Given the description of an element on the screen output the (x, y) to click on. 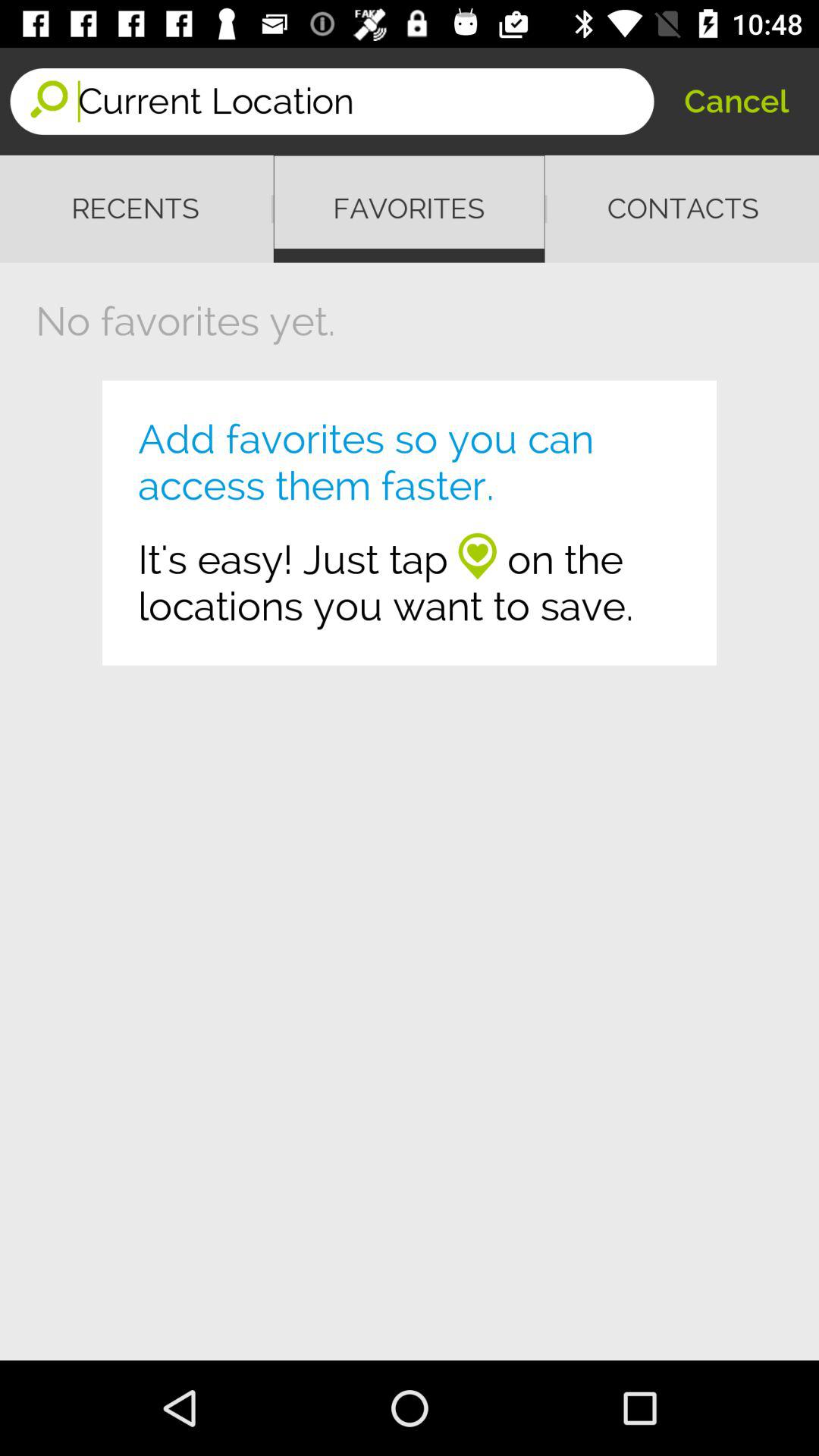
swipe until cancel item (736, 101)
